Given the description of an element on the screen output the (x, y) to click on. 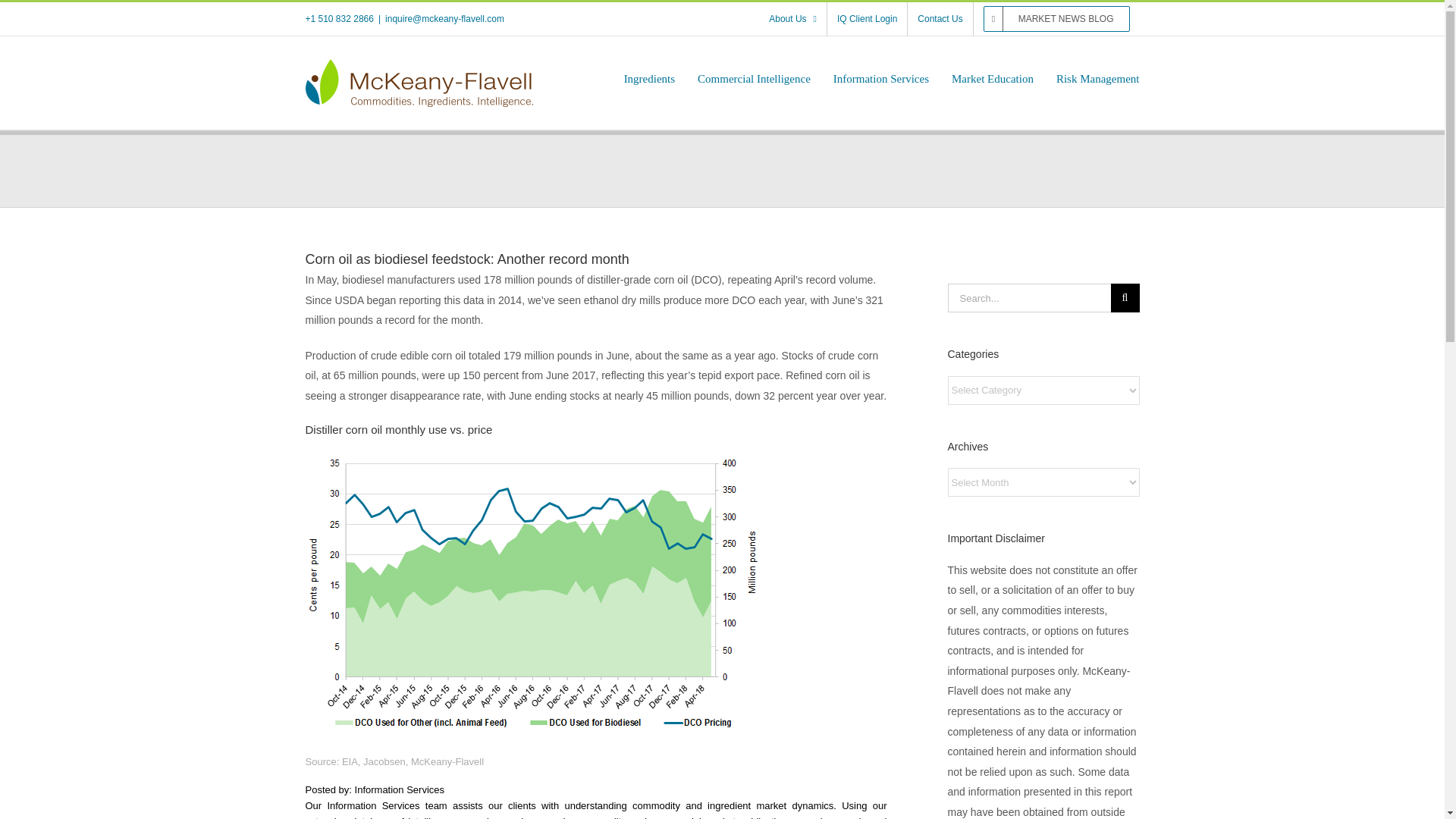
Market Education (992, 79)
Contact Us (939, 19)
MARKET NEWS BLOG (1057, 19)
IQ Client Login (867, 19)
Risk Management (1098, 79)
Information Services (880, 79)
About Us (792, 19)
Commercial Intelligence (753, 79)
